Given the description of an element on the screen output the (x, y) to click on. 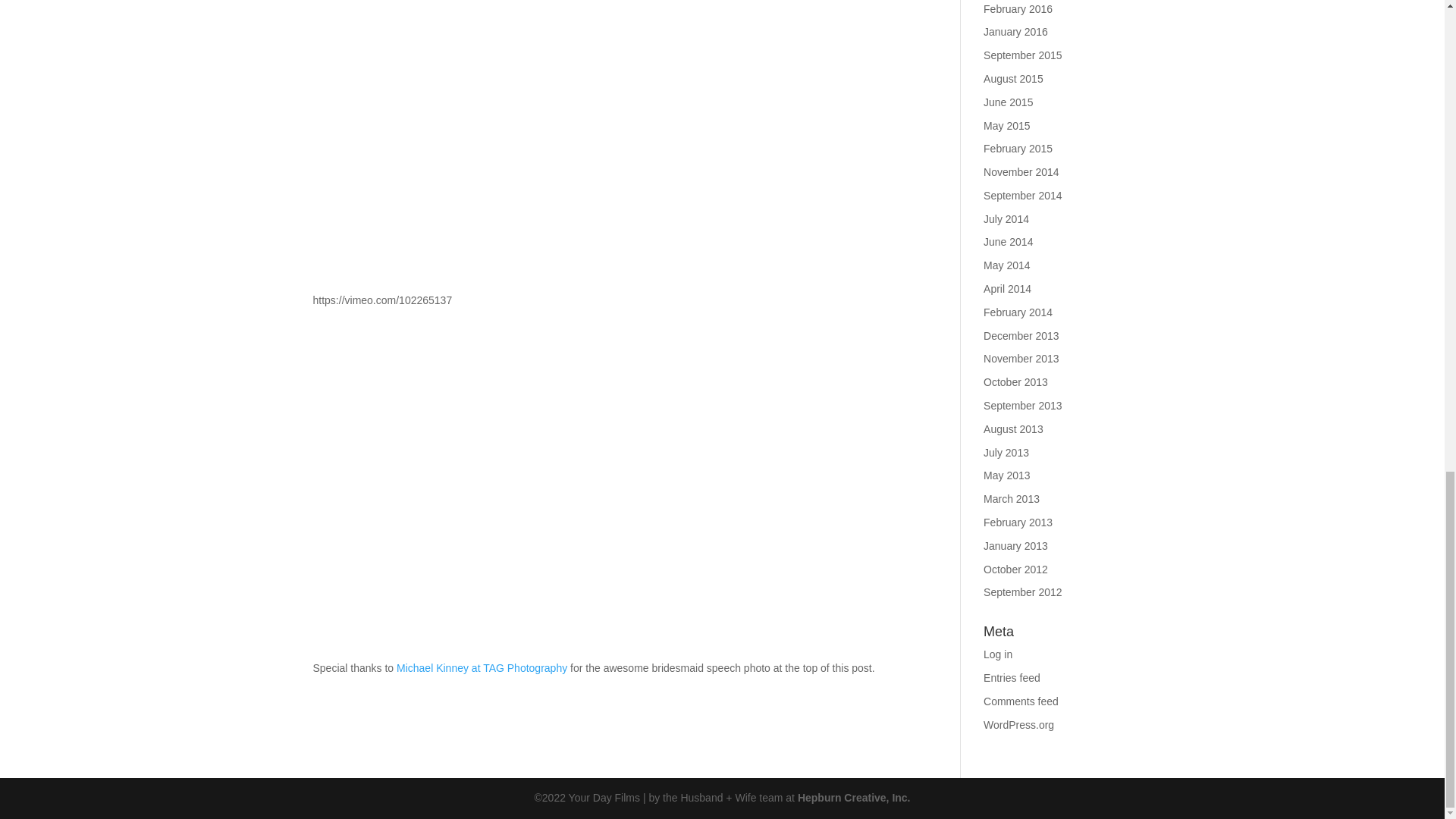
November 2014 (1021, 172)
June 2015 (1008, 102)
August 2015 (1013, 78)
June 2014 (1008, 241)
May 2014 (1006, 265)
Michael Kinney at TAG Photography (481, 667)
July 2014 (1006, 218)
May 2015 (1006, 125)
January 2016 (1016, 31)
September 2014 (1023, 195)
